Given the description of an element on the screen output the (x, y) to click on. 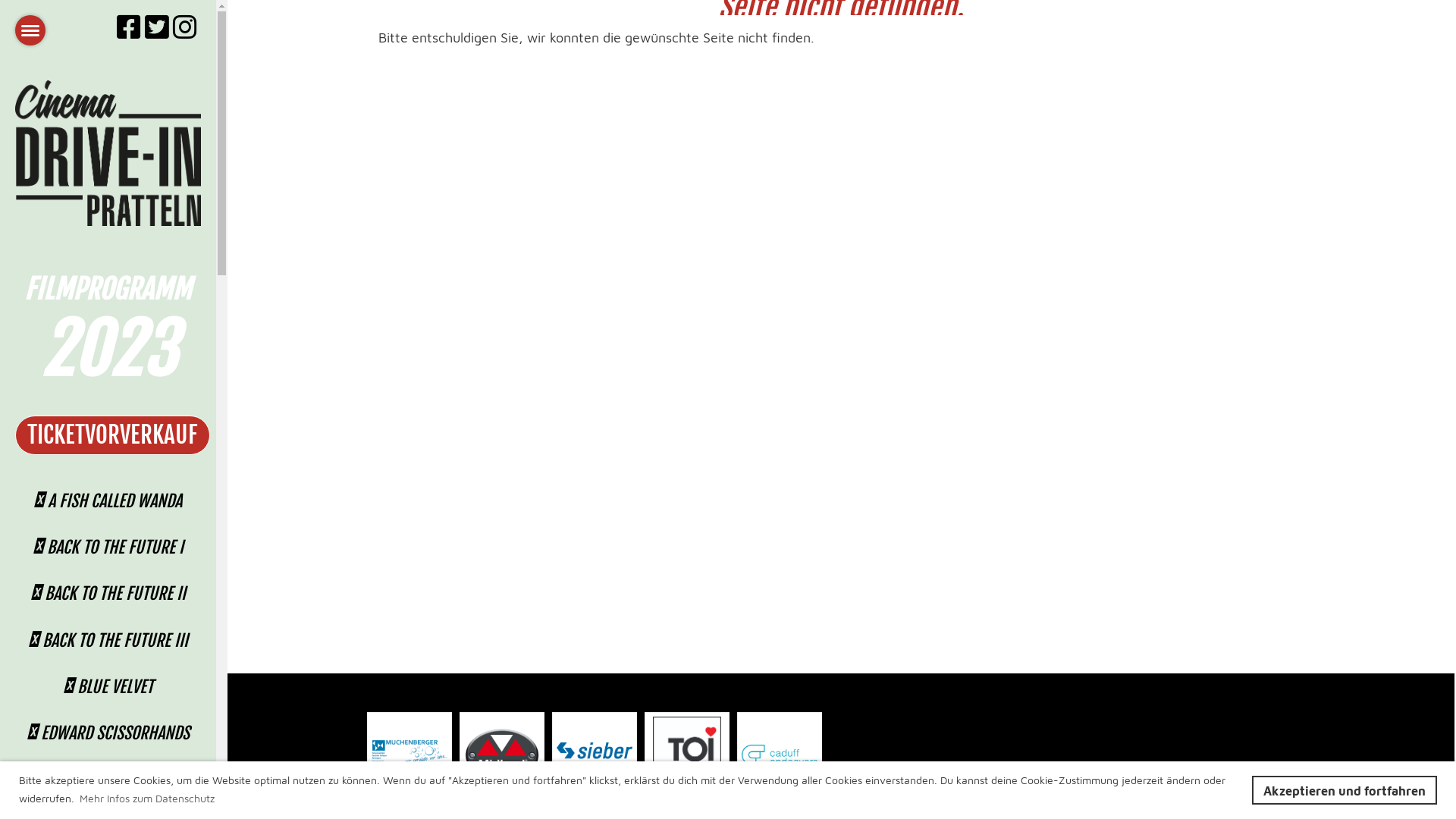
Mehr Infos zum Datenschutz Element type: text (146, 797)
TICKETVORVERKAUF Element type: text (112, 435)
Akzeptieren und fortfahren Element type: text (1344, 789)
